Given the description of an element on the screen output the (x, y) to click on. 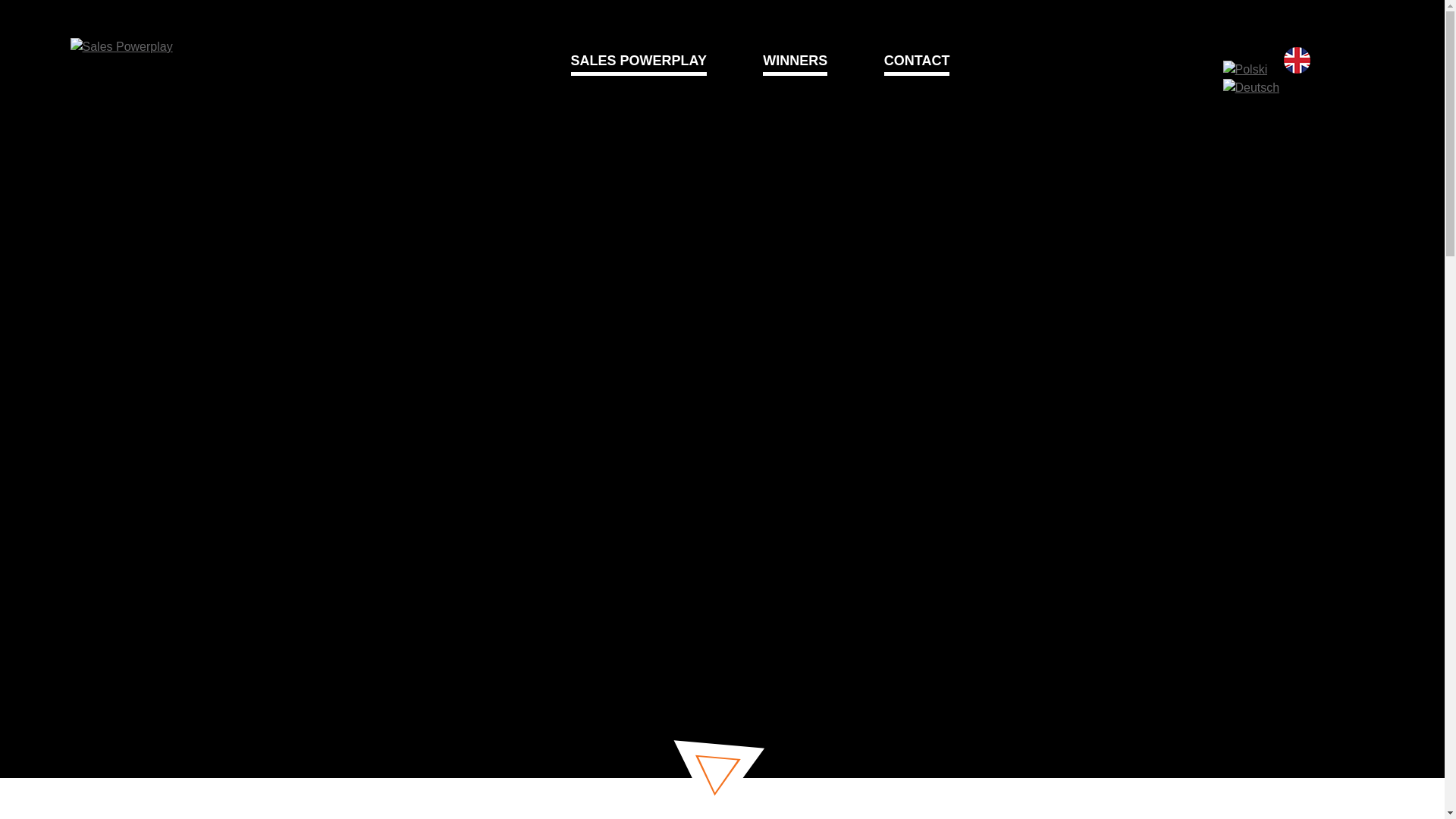
WINNERS (794, 60)
CONTACT (916, 60)
SALES POWERPLAY (638, 60)
